Given the description of an element on the screen output the (x, y) to click on. 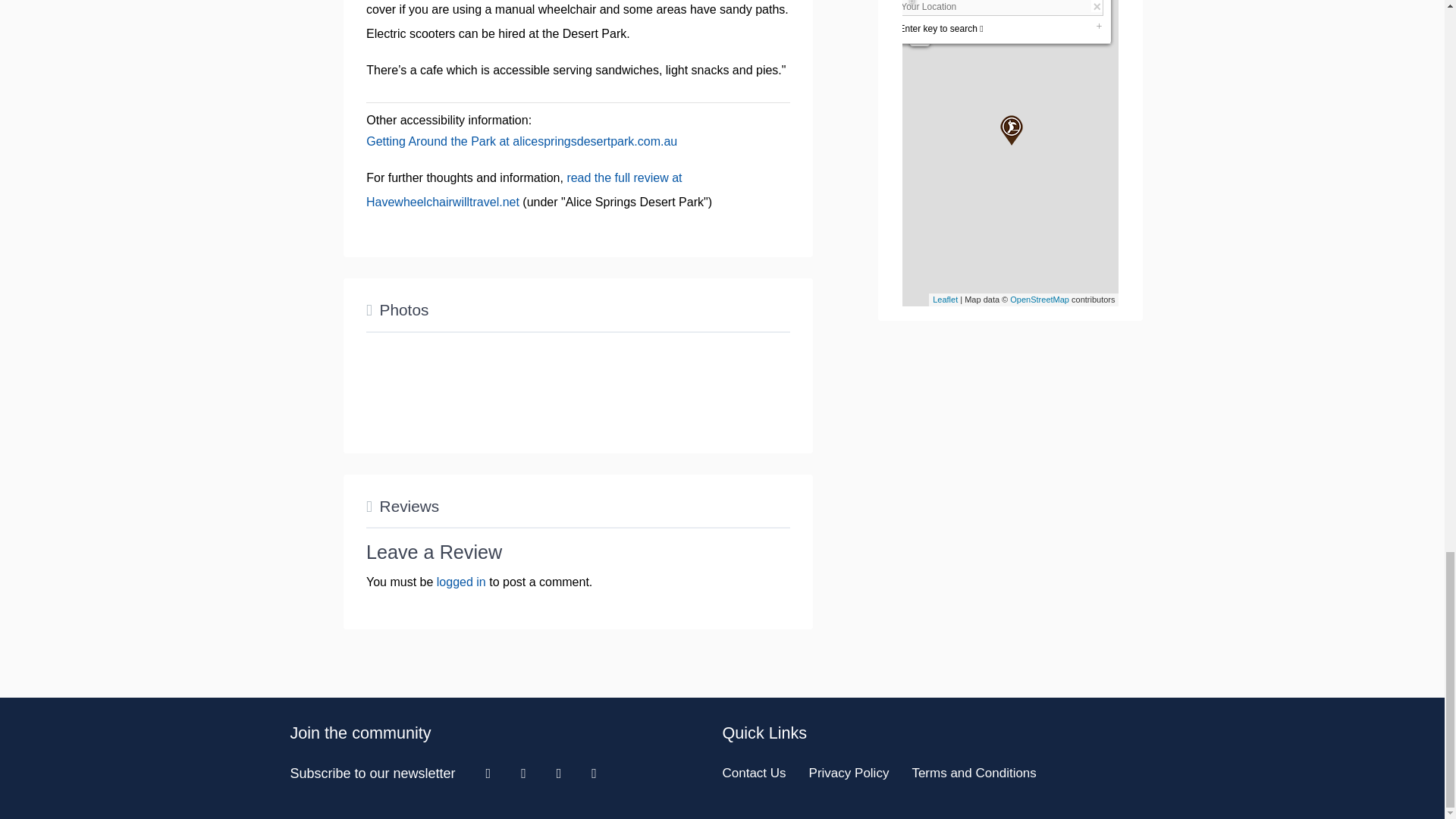
Zoom in (920, 16)
A JS library for interactive maps (945, 298)
Zoom out (920, 35)
